Given the description of an element on the screen output the (x, y) to click on. 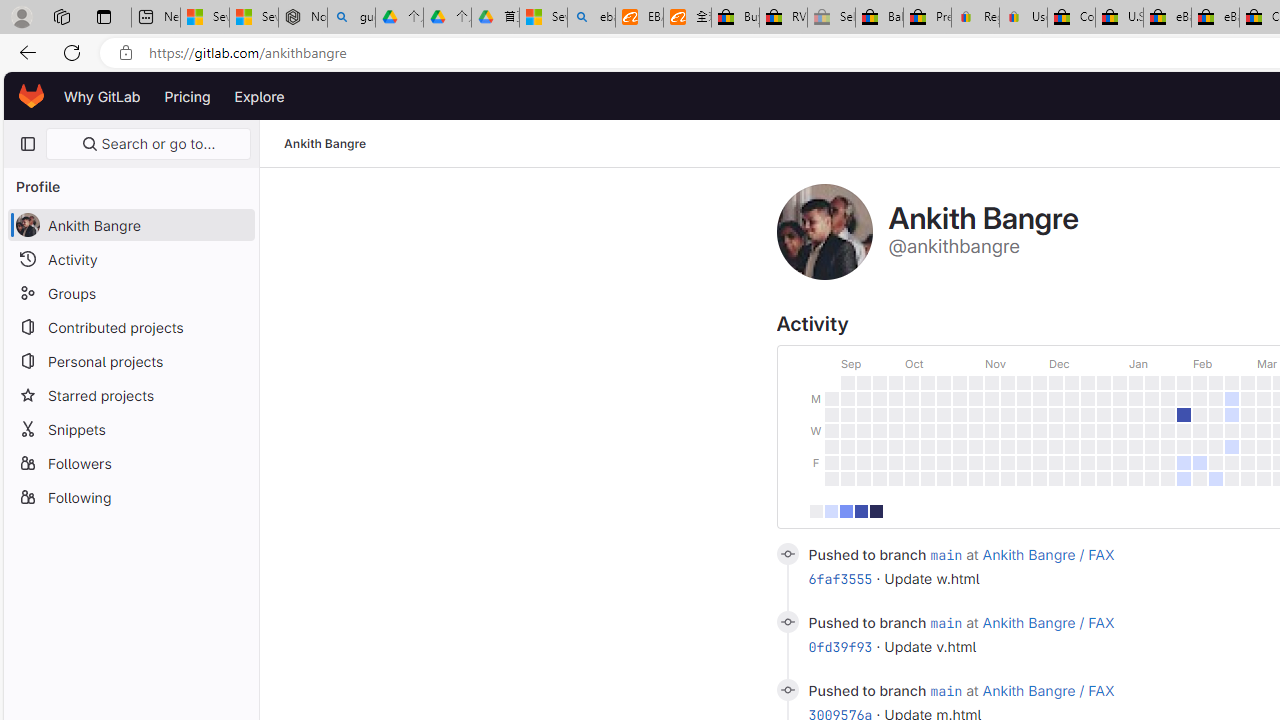
Baby Keepsakes & Announcements for sale | eBay (879, 17)
Snippets (130, 428)
